Given the description of an element on the screen output the (x, y) to click on. 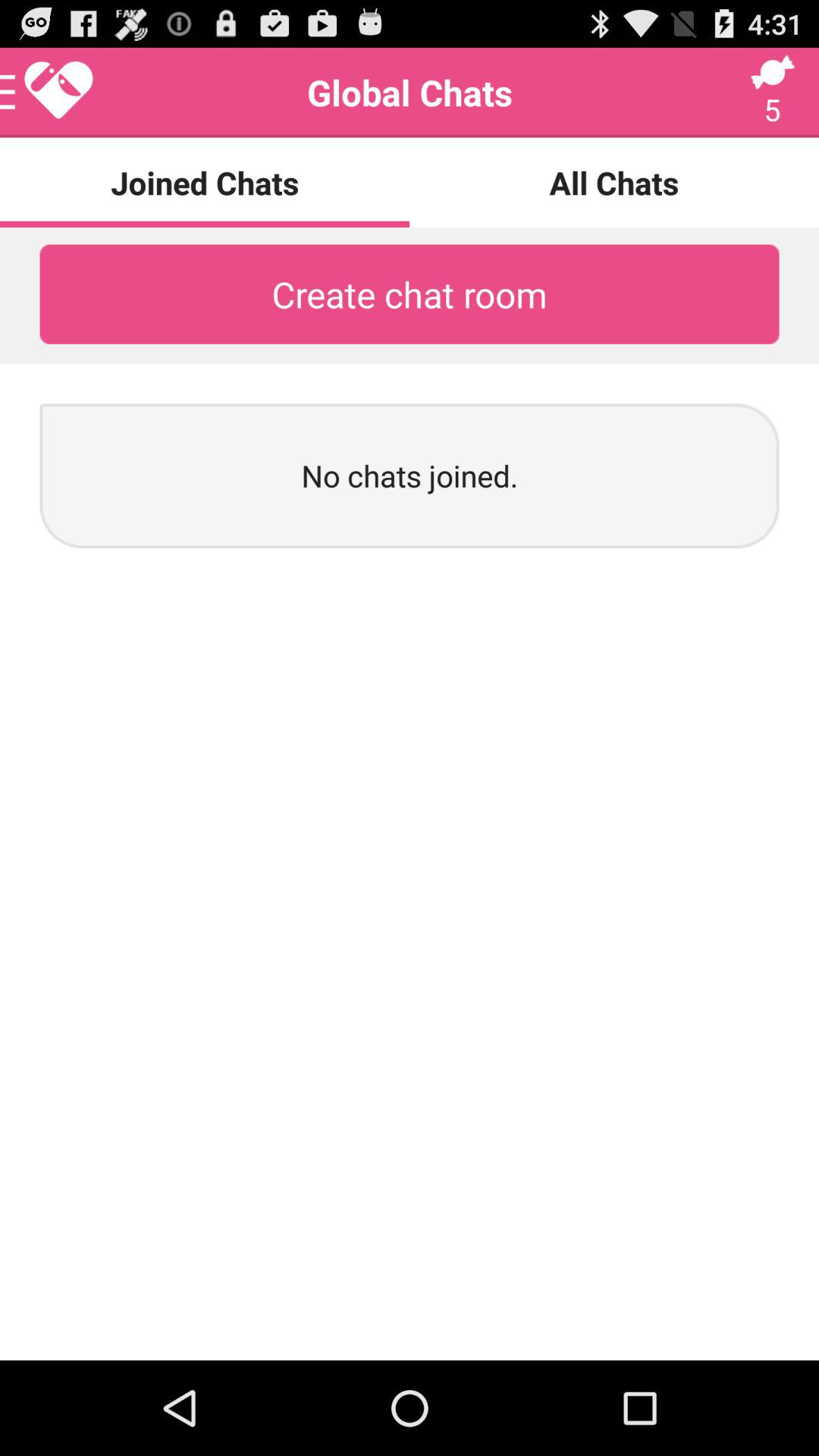
turn on item to the right of the joined chats icon (614, 182)
